Given the description of an element on the screen output the (x, y) to click on. 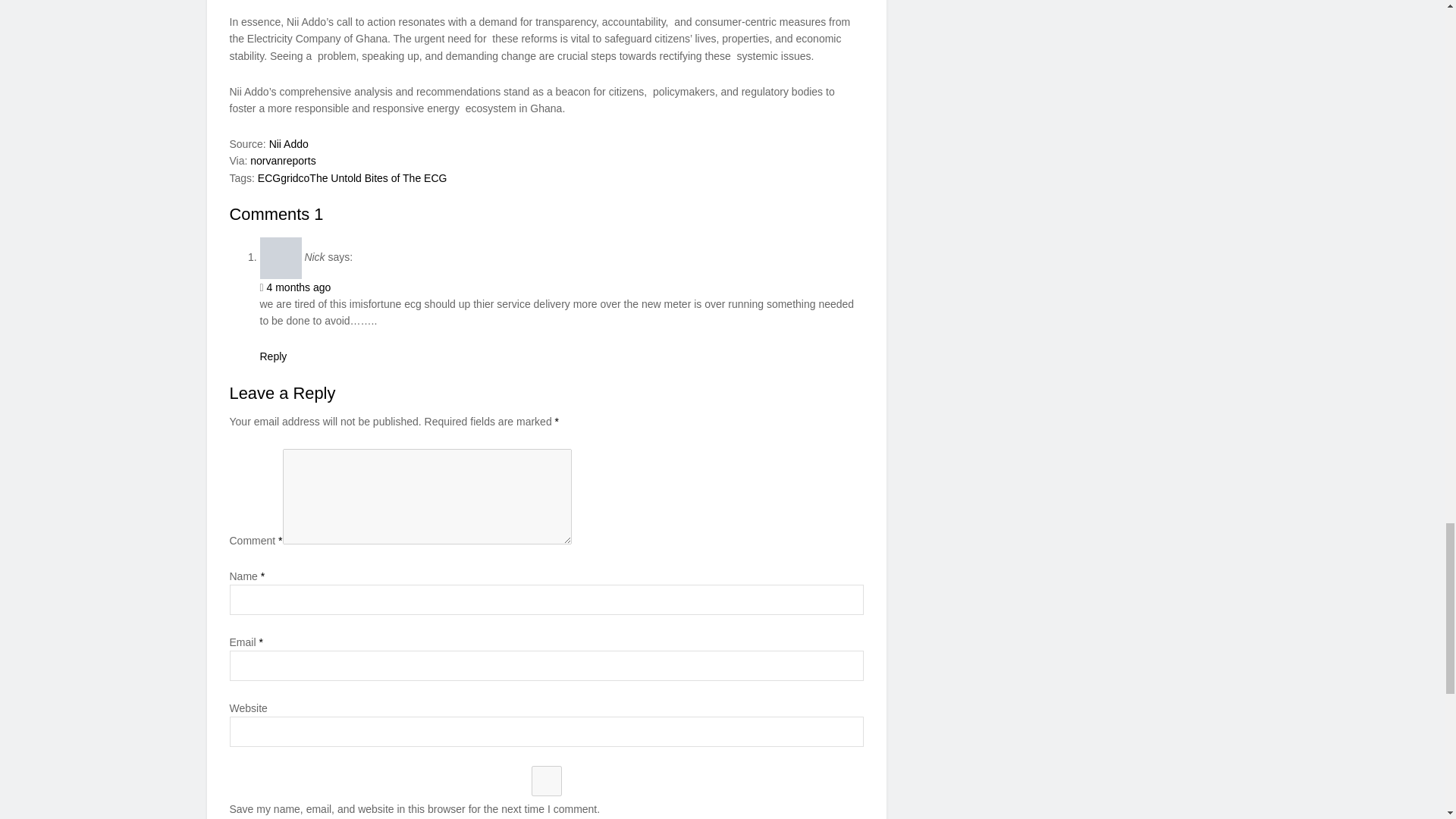
yes (545, 780)
